Given the description of an element on the screen output the (x, y) to click on. 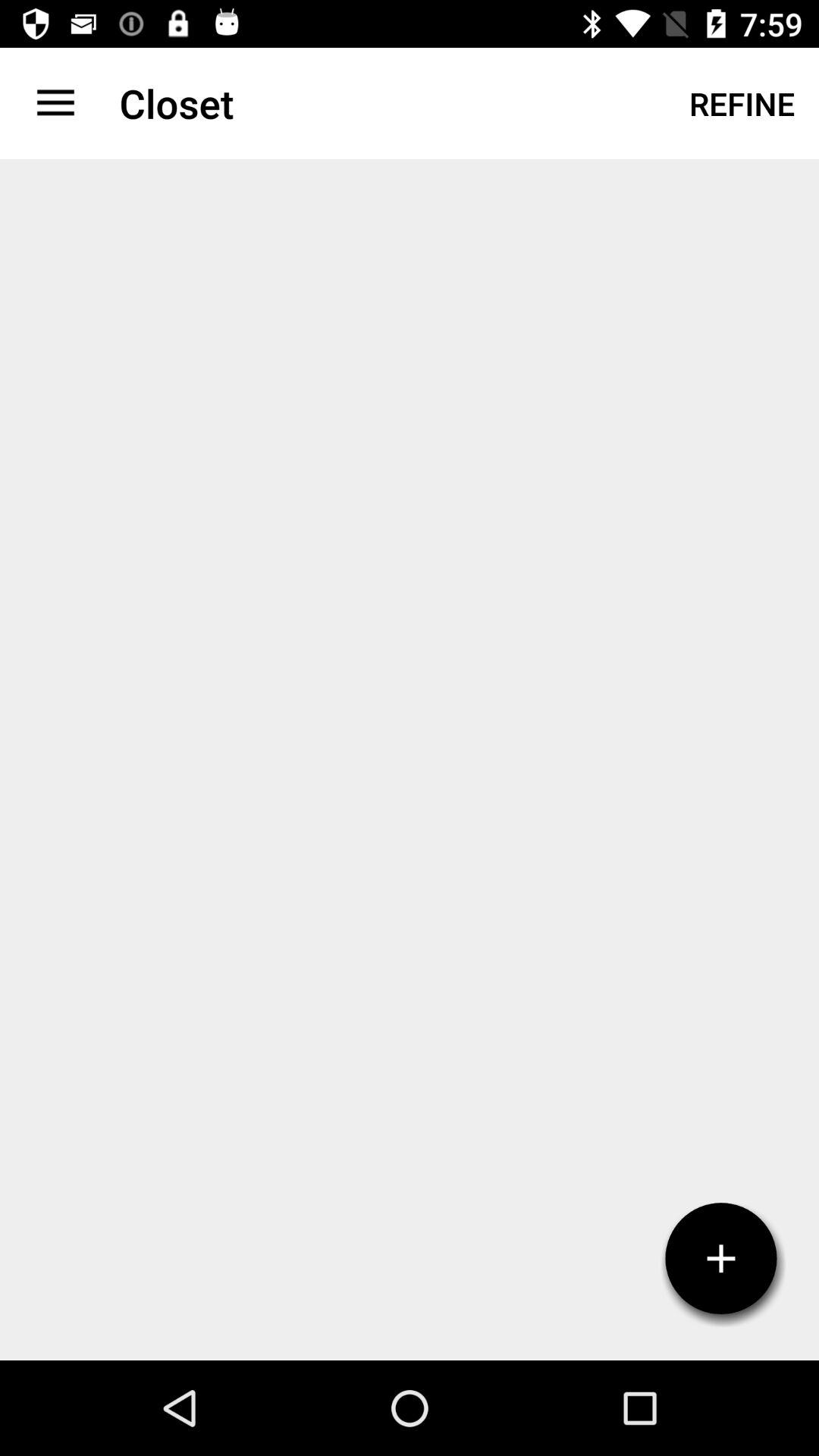
launch app next to the closet item (742, 103)
